Given the description of an element on the screen output the (x, y) to click on. 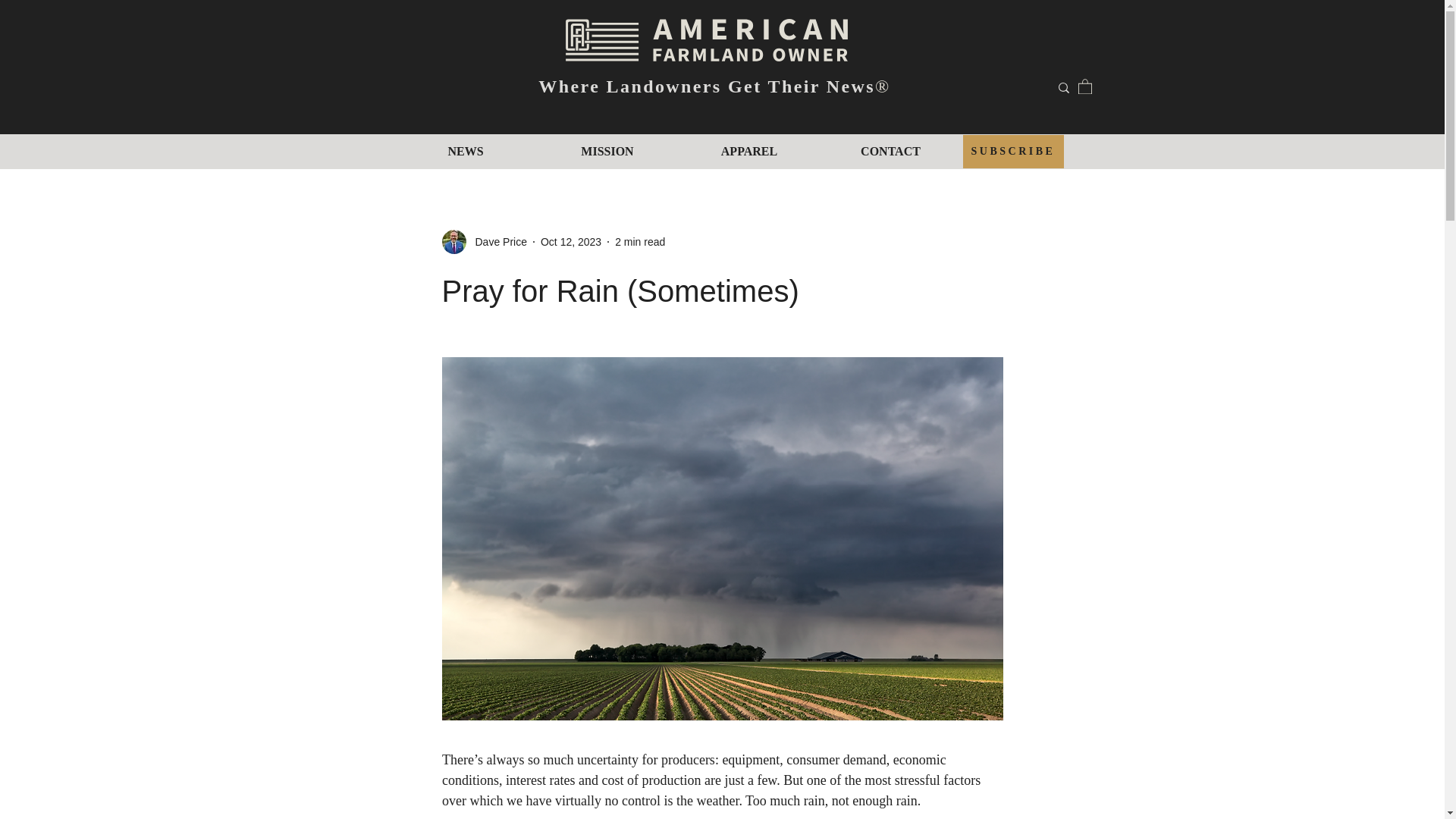
NEWS (464, 150)
2 min read (639, 241)
CONTACT (890, 150)
MISSION (607, 150)
Oct 12, 2023 (570, 241)
Dave Price (495, 241)
SUBSCRIBE (1012, 151)
Dave Price (483, 241)
APPAREL (748, 150)
